Given the description of an element on the screen output the (x, y) to click on. 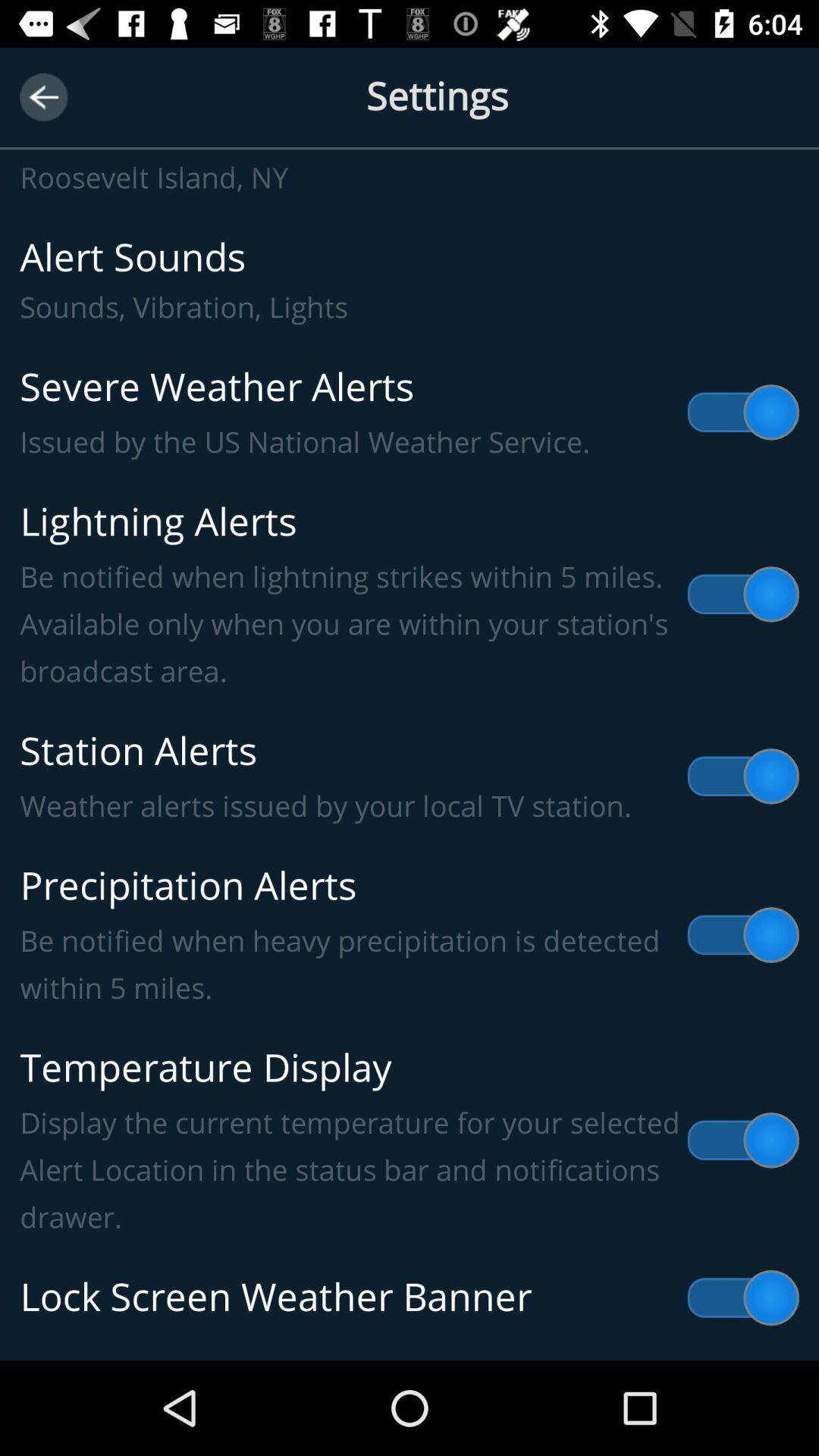
turn on icon to the left of the settings (43, 97)
